Given the description of an element on the screen output the (x, y) to click on. 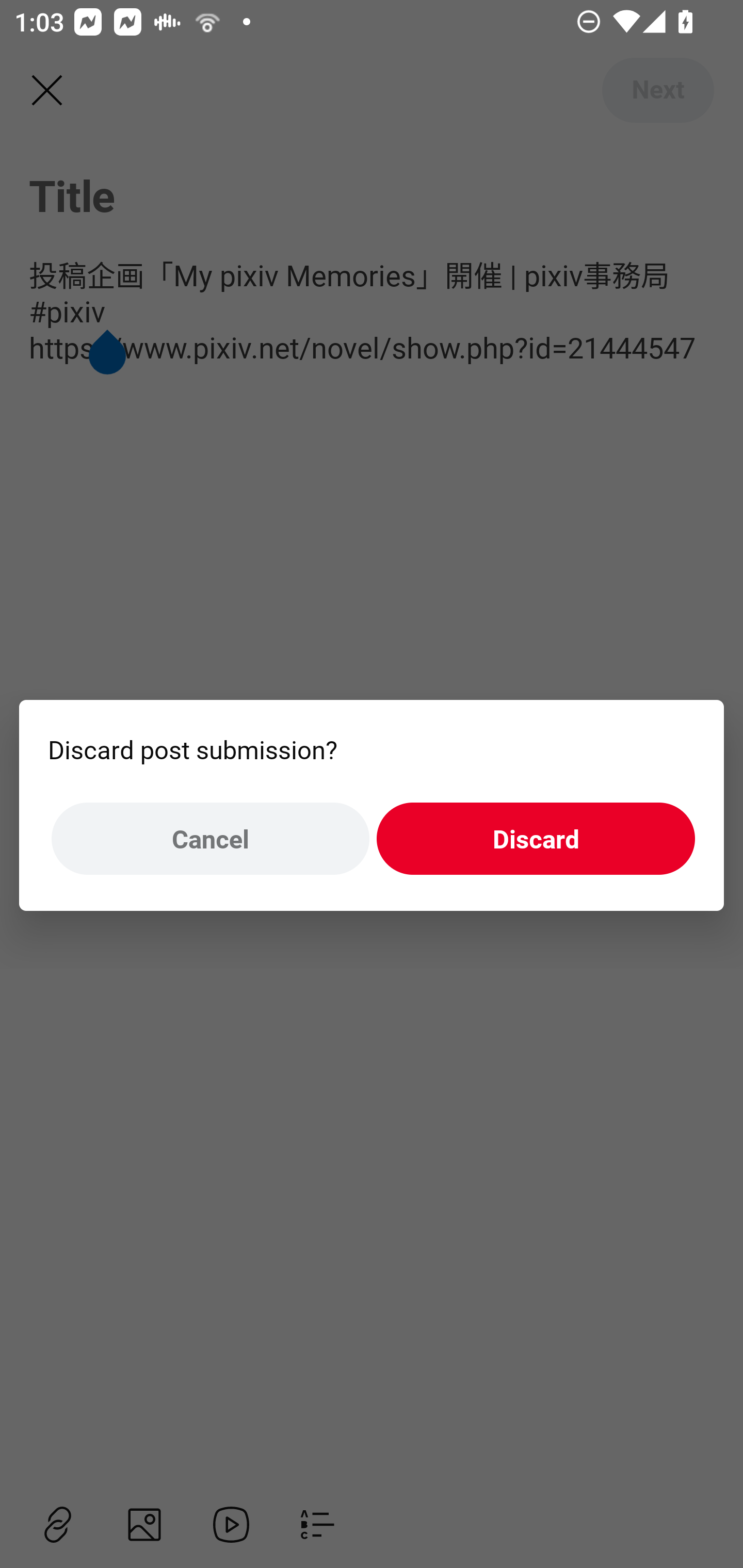
Cancel (210, 838)
Discard (535, 838)
